Given the description of an element on the screen output the (x, y) to click on. 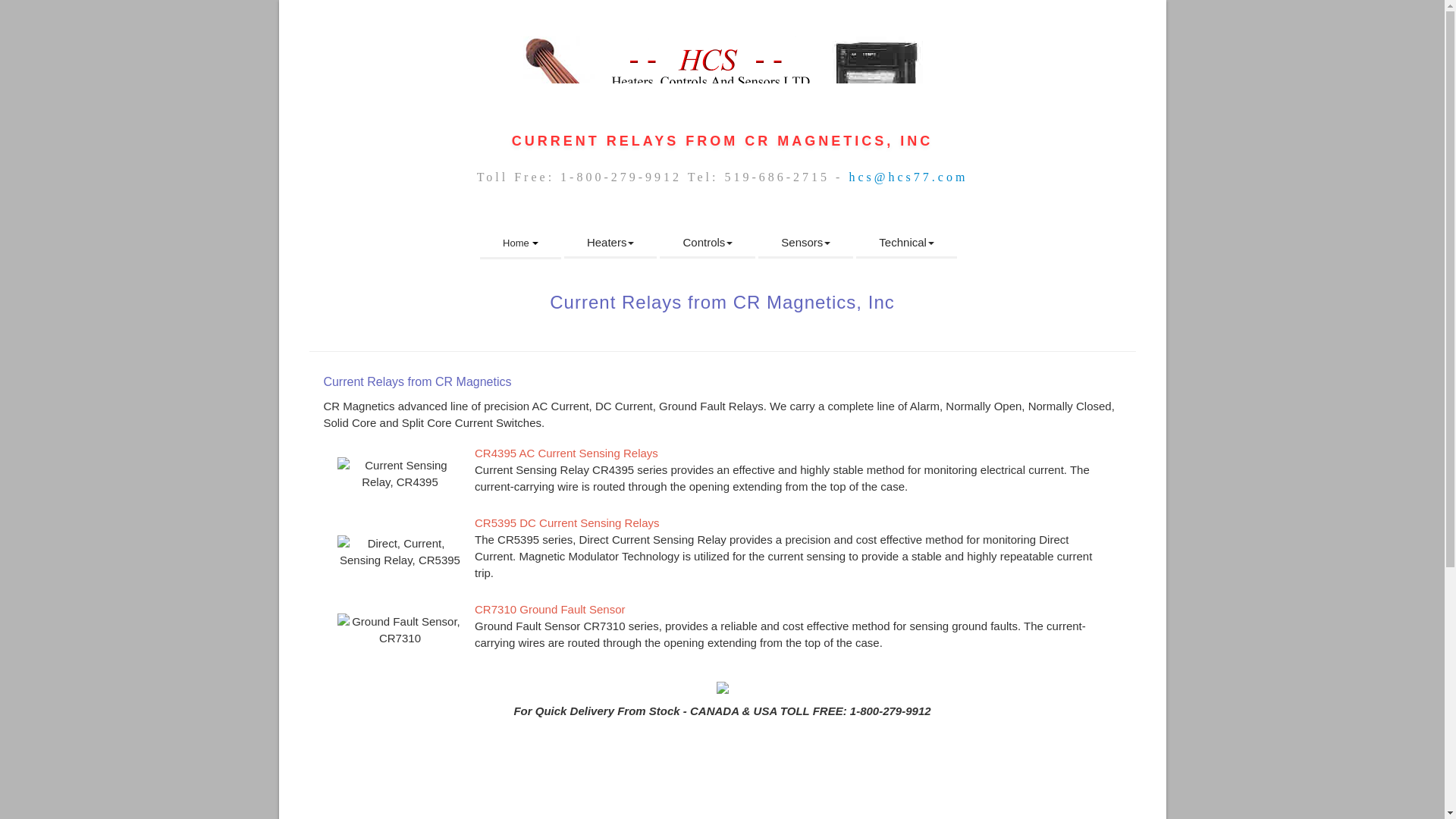
Heaters (611, 243)
Controls (707, 243)
Home (520, 243)
